Given the description of an element on the screen output the (x, y) to click on. 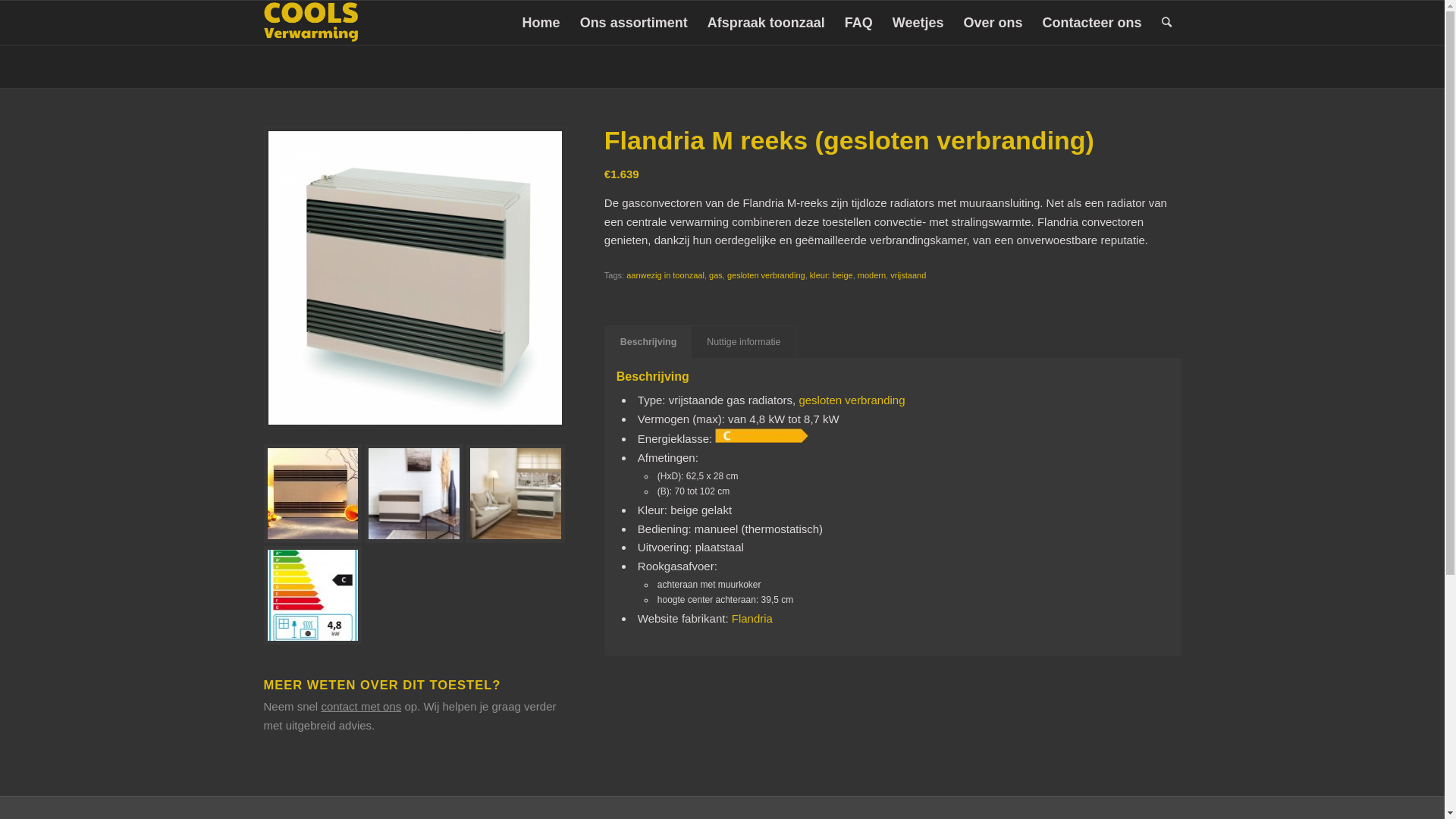
Flandria Element type: text (751, 617)
Afspraak toonzaal Element type: text (765, 22)
Ons assortiment Element type: text (633, 22)
gesloten verbranding Element type: text (851, 399)
Home Element type: text (541, 22)
Beschrijving Element type: text (647, 342)
Weetjes Element type: text (917, 22)
contact met ons Element type: text (360, 705)
Nuttige informatie Element type: text (742, 342)
Over ons Element type: text (992, 22)
FAQ Element type: text (858, 22)
modern Element type: text (871, 274)
gesloten verbranding Element type: text (766, 274)
vrijstaand Element type: text (907, 274)
gas Element type: text (715, 274)
Contacteer ons Element type: text (1091, 22)
aanwezig in toonzaal Element type: text (665, 274)
kleur: beige Element type: text (831, 274)
